Given the description of an element on the screen output the (x, y) to click on. 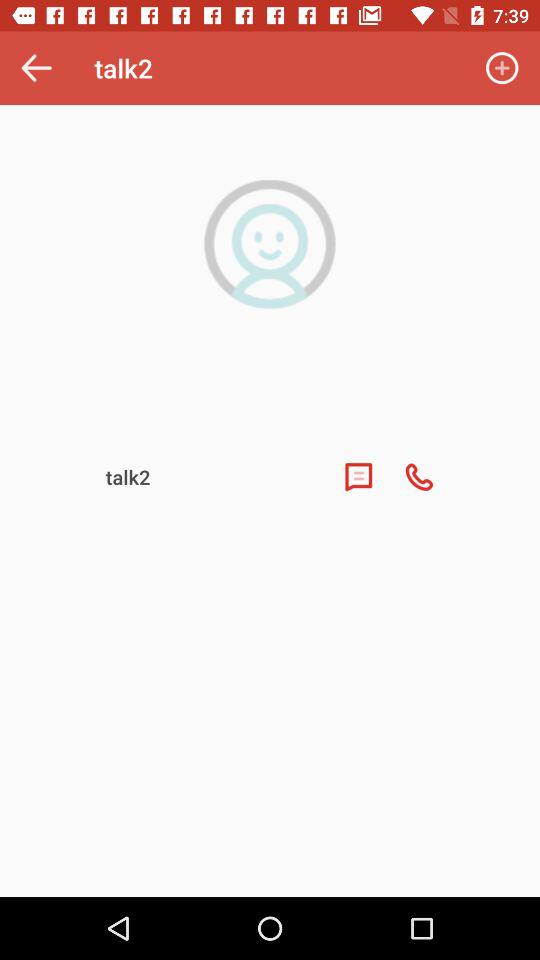
open icon to the right of talk2 icon (502, 67)
